Given the description of an element on the screen output the (x, y) to click on. 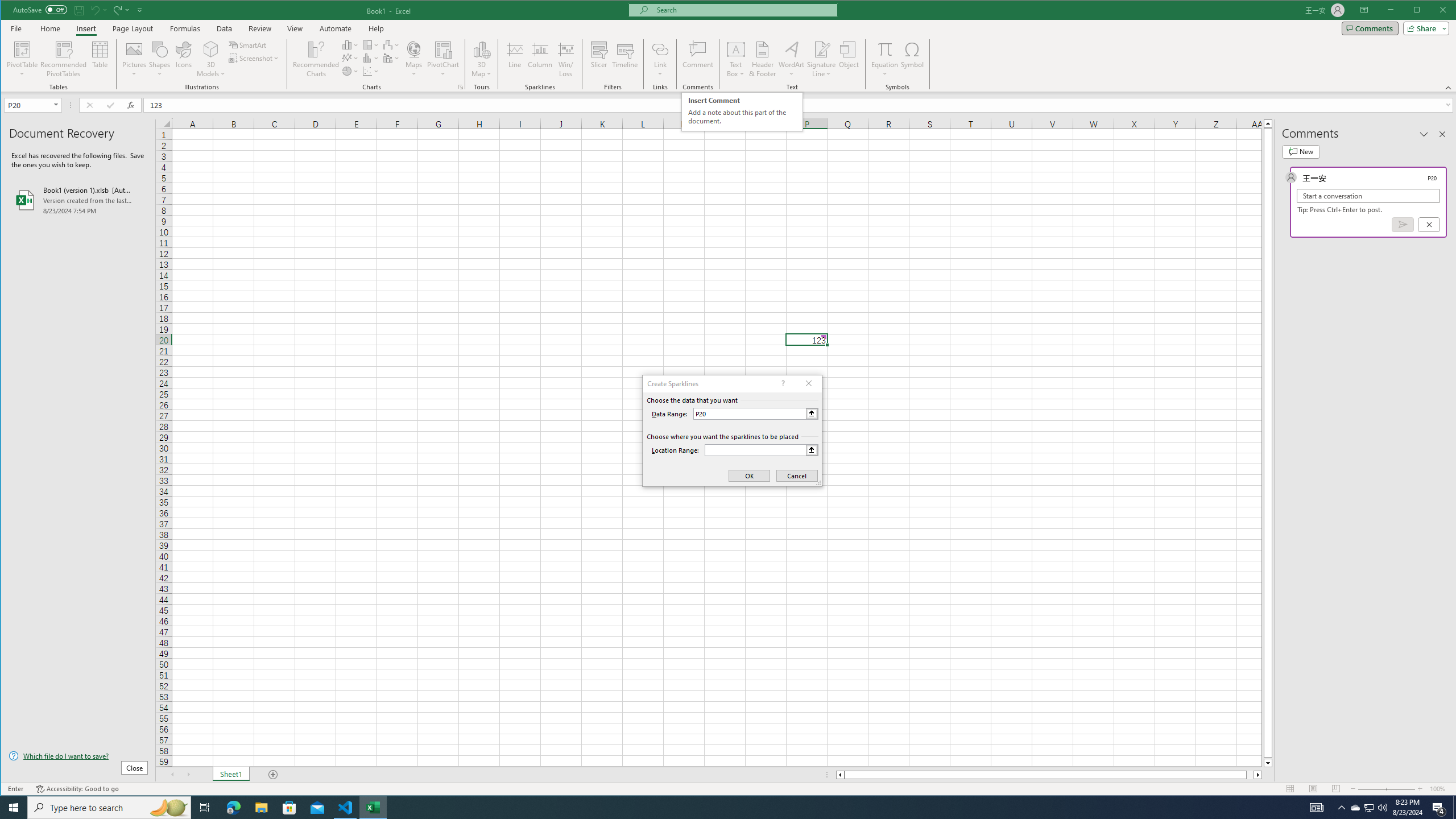
Screenshot (254, 57)
Recommended PivotTables (63, 59)
Text Box (735, 59)
Insert Scatter (X, Y) or Bubble Chart (371, 70)
3D Map (481, 48)
